Given the description of an element on the screen output the (x, y) to click on. 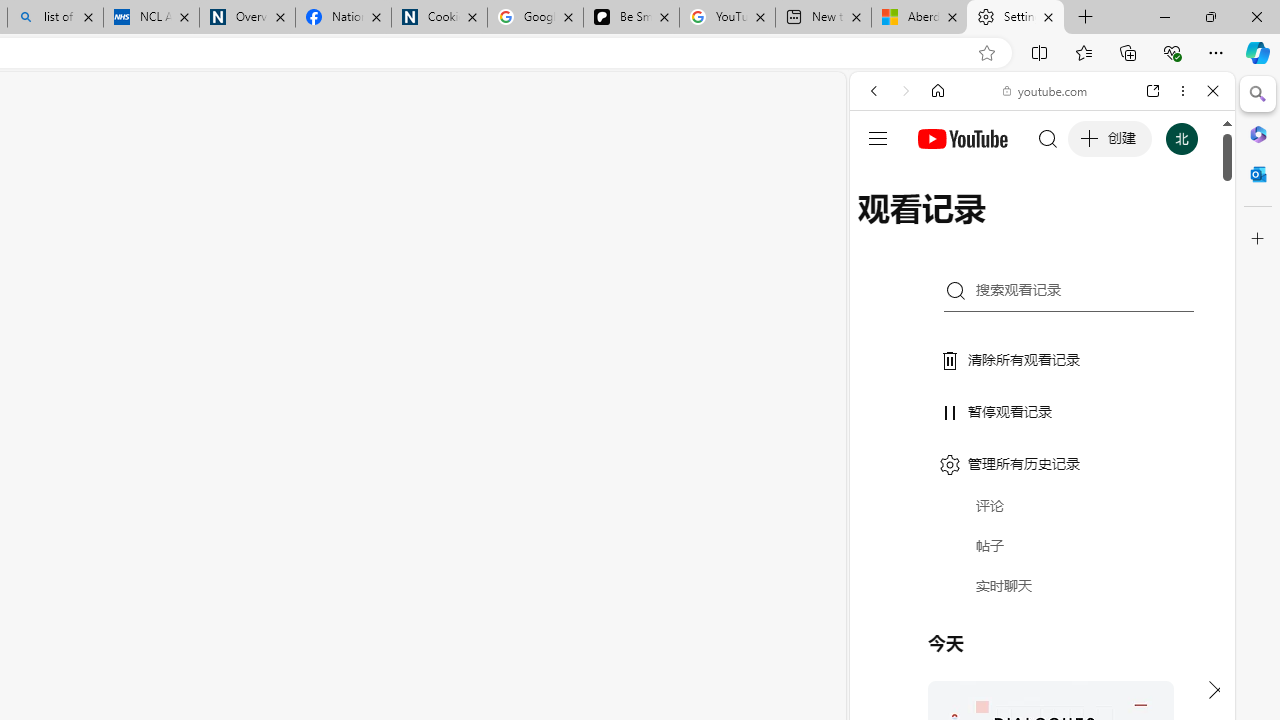
YouTube (1034, 296)
youtube.com (1046, 90)
